Given the description of an element on the screen output the (x, y) to click on. 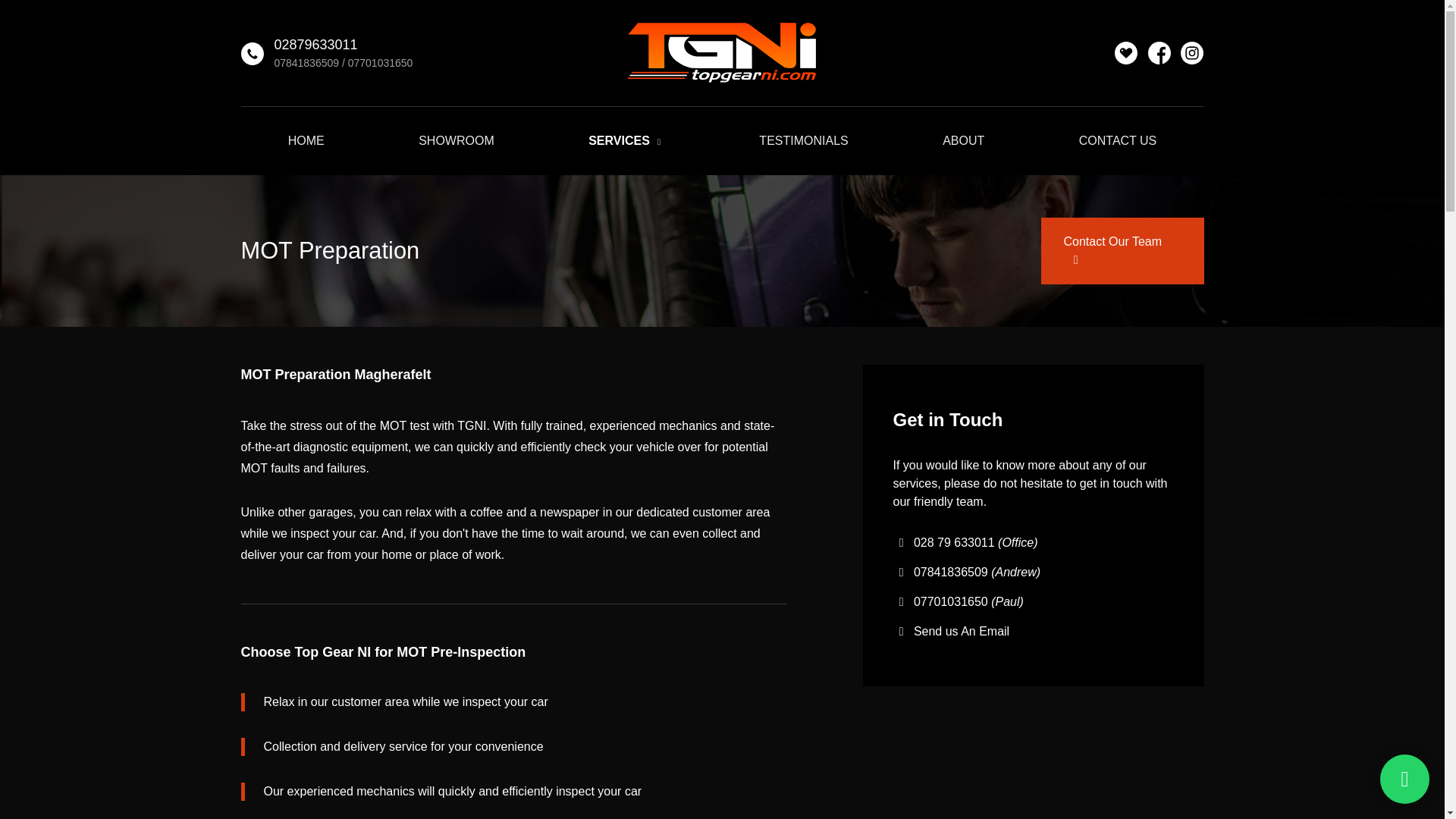
SERVICES (626, 141)
07701031650 (380, 62)
SHOWROOM (456, 141)
Top Gear NI (721, 52)
ABOUT (963, 141)
CONTACT US (1118, 141)
Check us out on Facebook (1159, 52)
HOME (306, 141)
07841836509 (306, 62)
Contact Our Team (1122, 250)
Check us out on Instagram (1192, 52)
02879633011 (314, 44)
Send us An Email (961, 631)
TESTIMONIALS (803, 141)
